Given the description of an element on the screen output the (x, y) to click on. 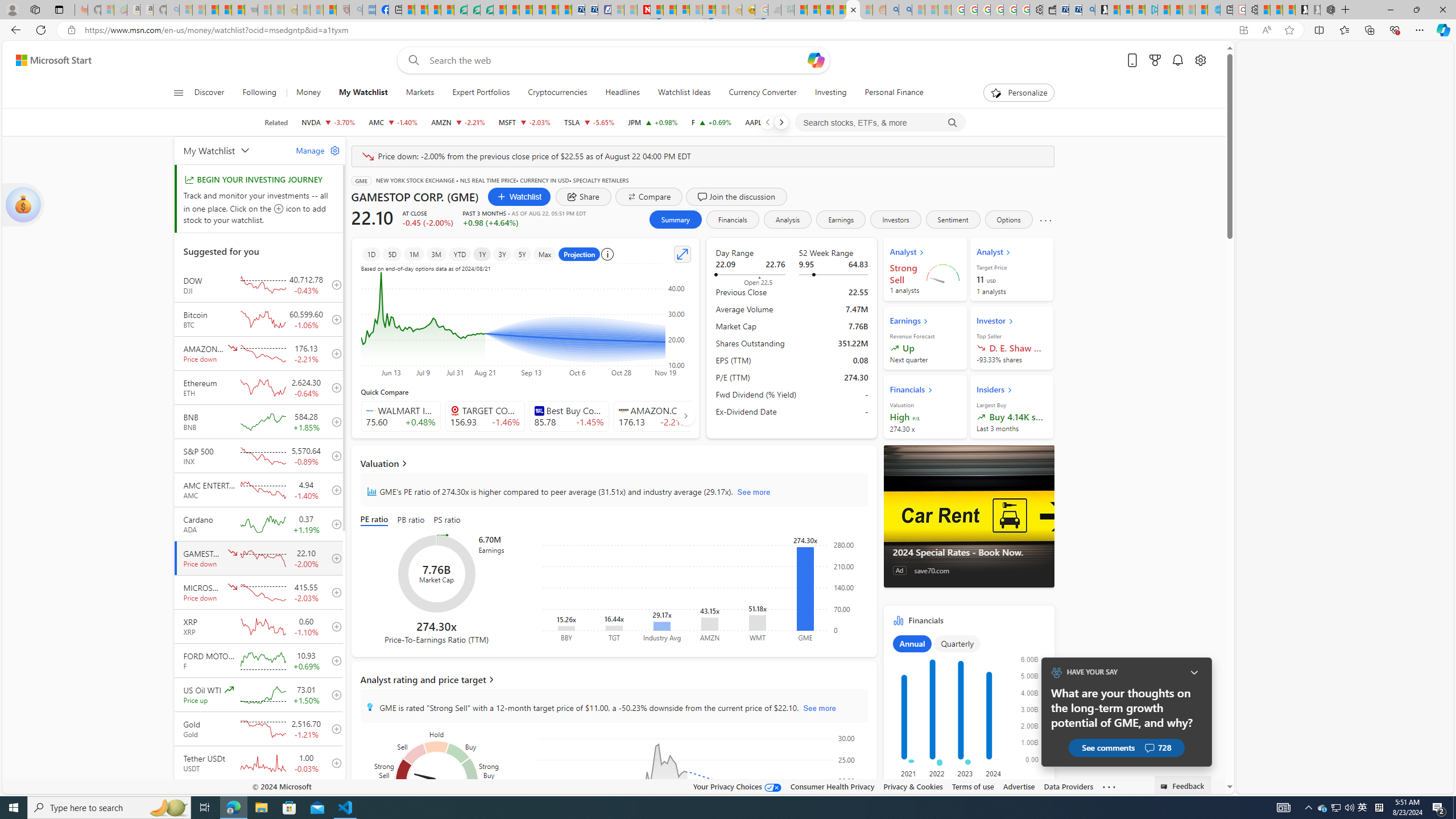
Terms of Use Agreement (473, 9)
Watchlist (519, 196)
Financials (732, 219)
Personal Finance (889, 92)
Investors (895, 219)
